Given the description of an element on the screen output the (x, y) to click on. 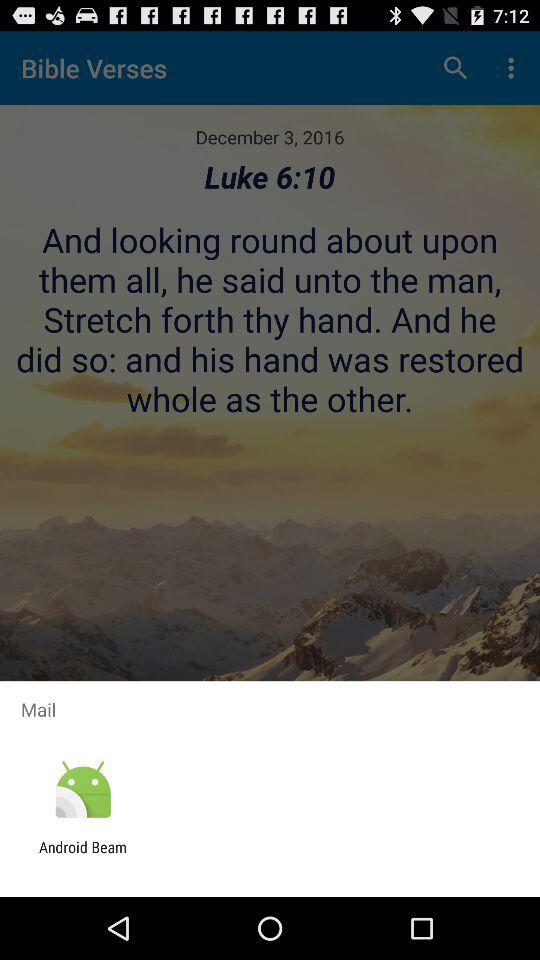
launch the android beam icon (83, 856)
